Given the description of an element on the screen output the (x, y) to click on. 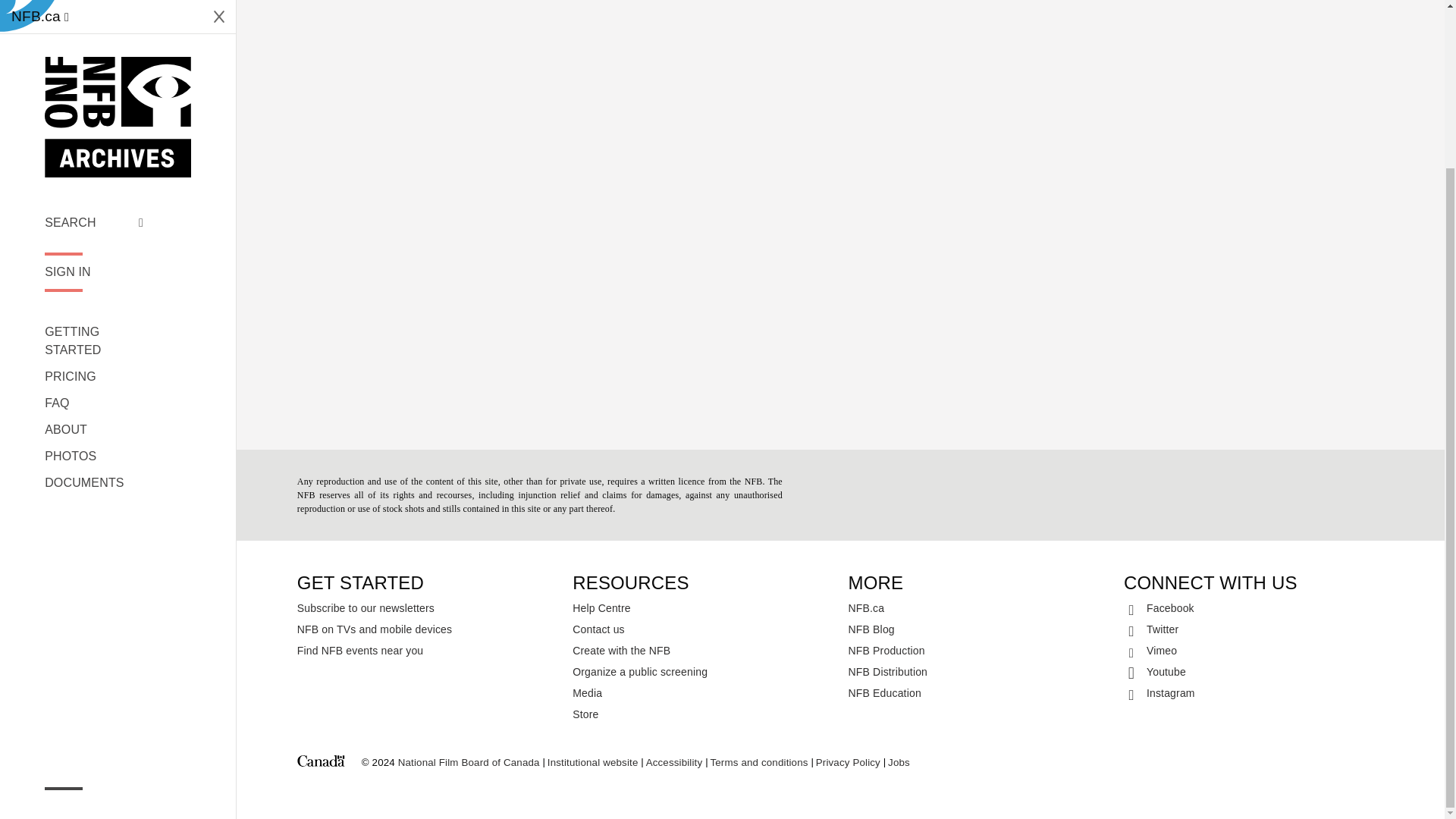
Contact us (702, 629)
Media (702, 692)
Vimeo (1254, 649)
SEARCH (93, 22)
Instagram (1254, 692)
Subscribe to our newsletters (427, 608)
Canada (321, 762)
SIGN IN (93, 70)
Twitter (1254, 629)
NFB on TVs and mobile devices (427, 629)
